Given the description of an element on the screen output the (x, y) to click on. 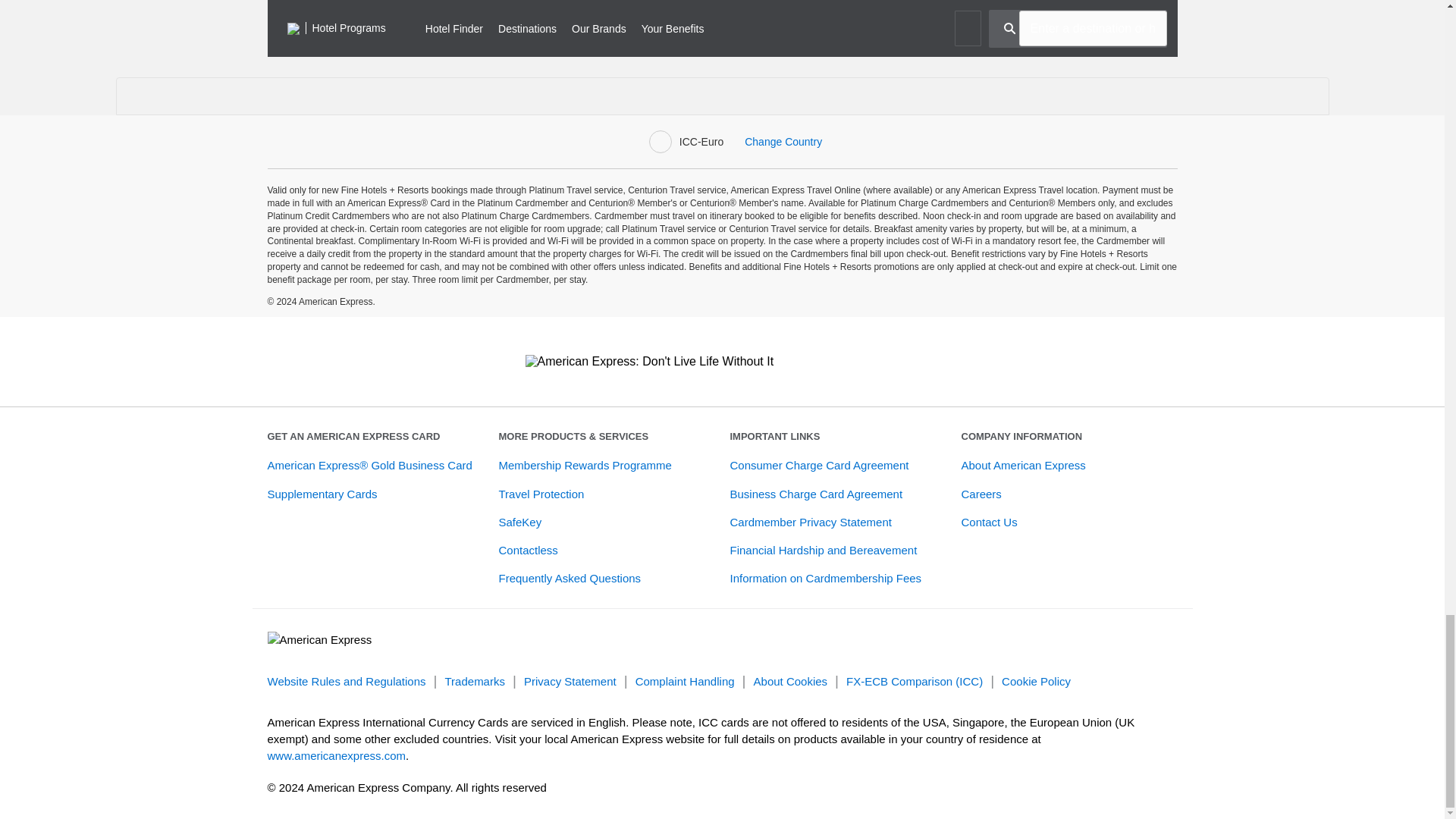
Supplementary Cards (321, 493)
About American Express (1023, 464)
Frequently Asked Questions (570, 577)
Business Charge Card Agreement (815, 493)
Charge Card Agreement (818, 464)
SafeKey (520, 521)
Contactless (528, 549)
Membership Rewards Programme (585, 464)
Cardmember Privacy Statement (810, 521)
Travel Protection (542, 493)
Careers (980, 493)
Financial Hardship and Bereavement (823, 549)
Contact Us (988, 521)
Information on Cardmembership Fees (825, 577)
